Given the description of an element on the screen output the (x, y) to click on. 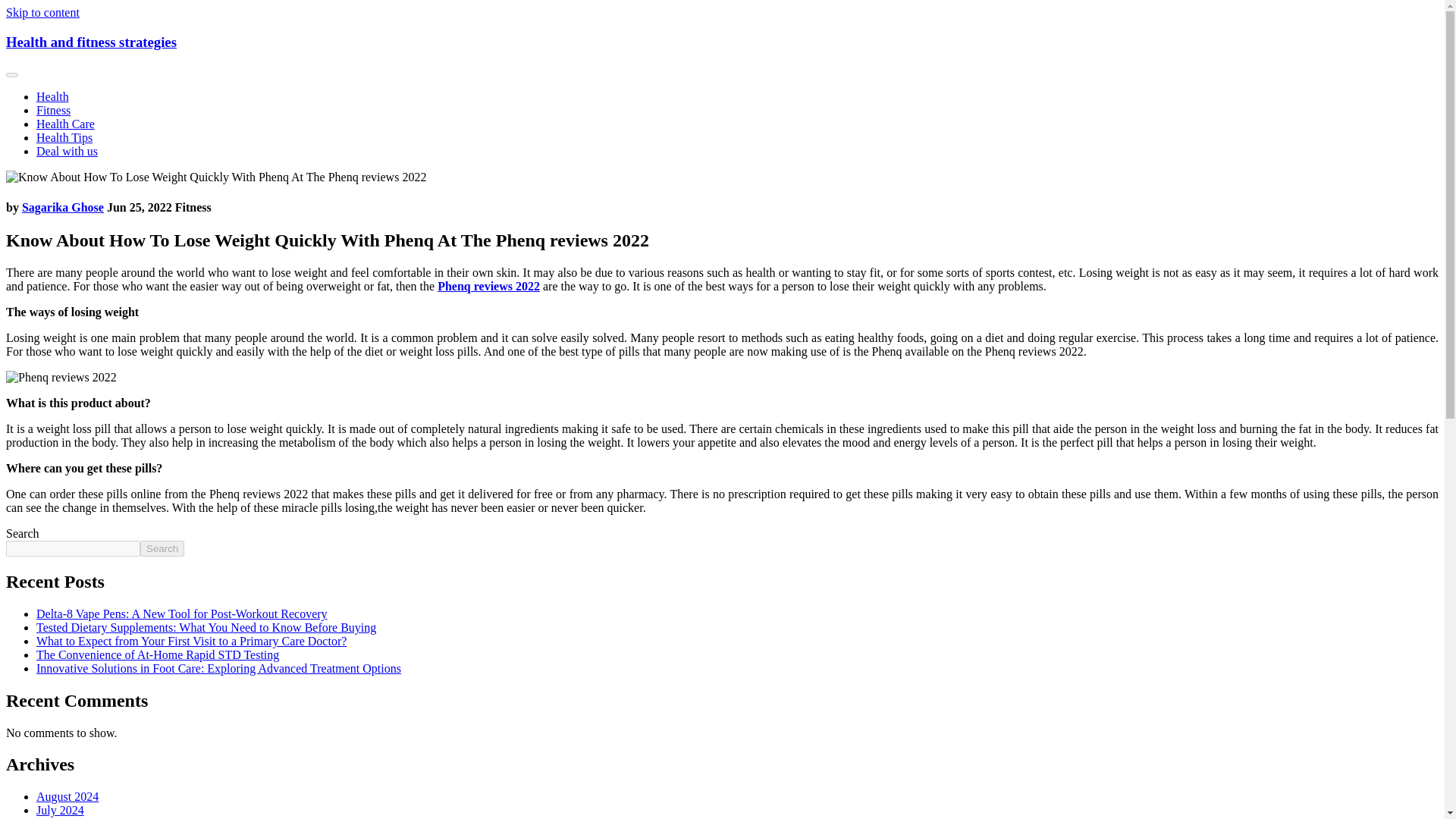
Health Tips (64, 137)
Health Care (65, 123)
June 2024 (60, 818)
The Convenience of At-Home Rapid STD Testing (157, 654)
July 2024 (60, 809)
Skip to content (42, 11)
Search (161, 548)
August 2024 (67, 796)
